Given the description of an element on the screen output the (x, y) to click on. 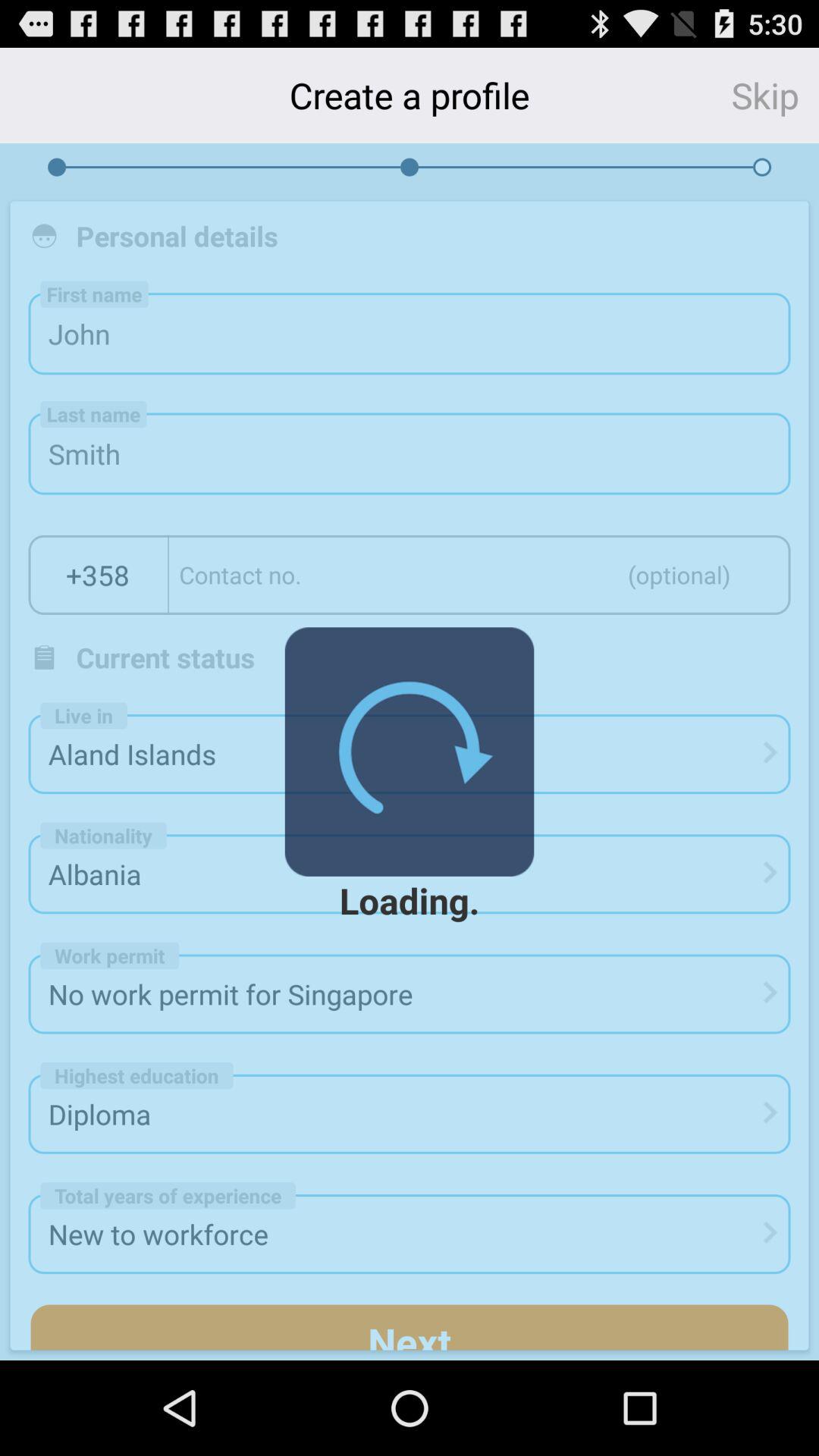
text area (479, 574)
